Given the description of an element on the screen output the (x, y) to click on. 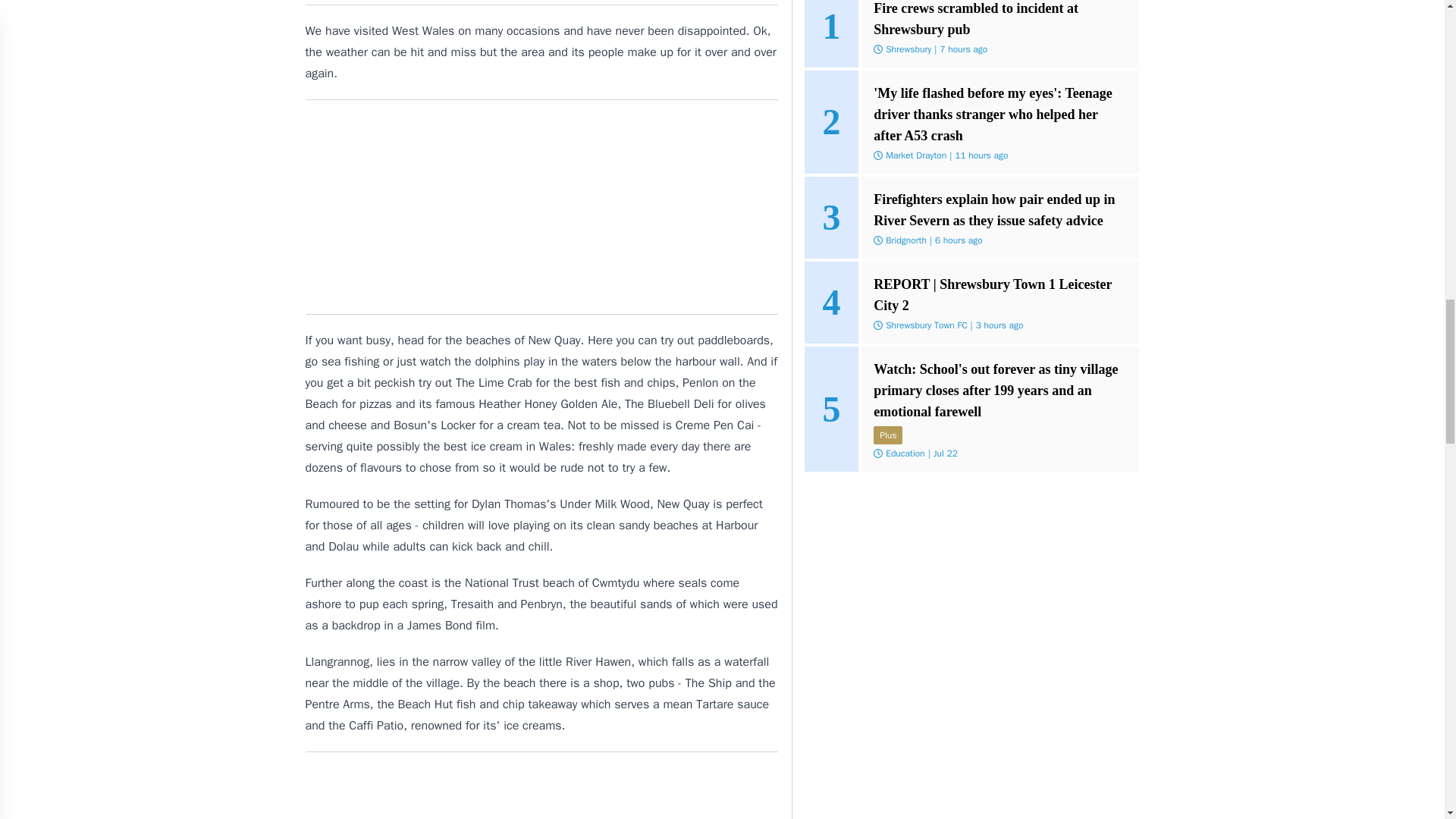
Bridgnorth (905, 240)
Education (904, 453)
Shrewsbury (908, 49)
Market Drayton (915, 155)
Shrewsbury Town FC (925, 325)
